Given the description of an element on the screen output the (x, y) to click on. 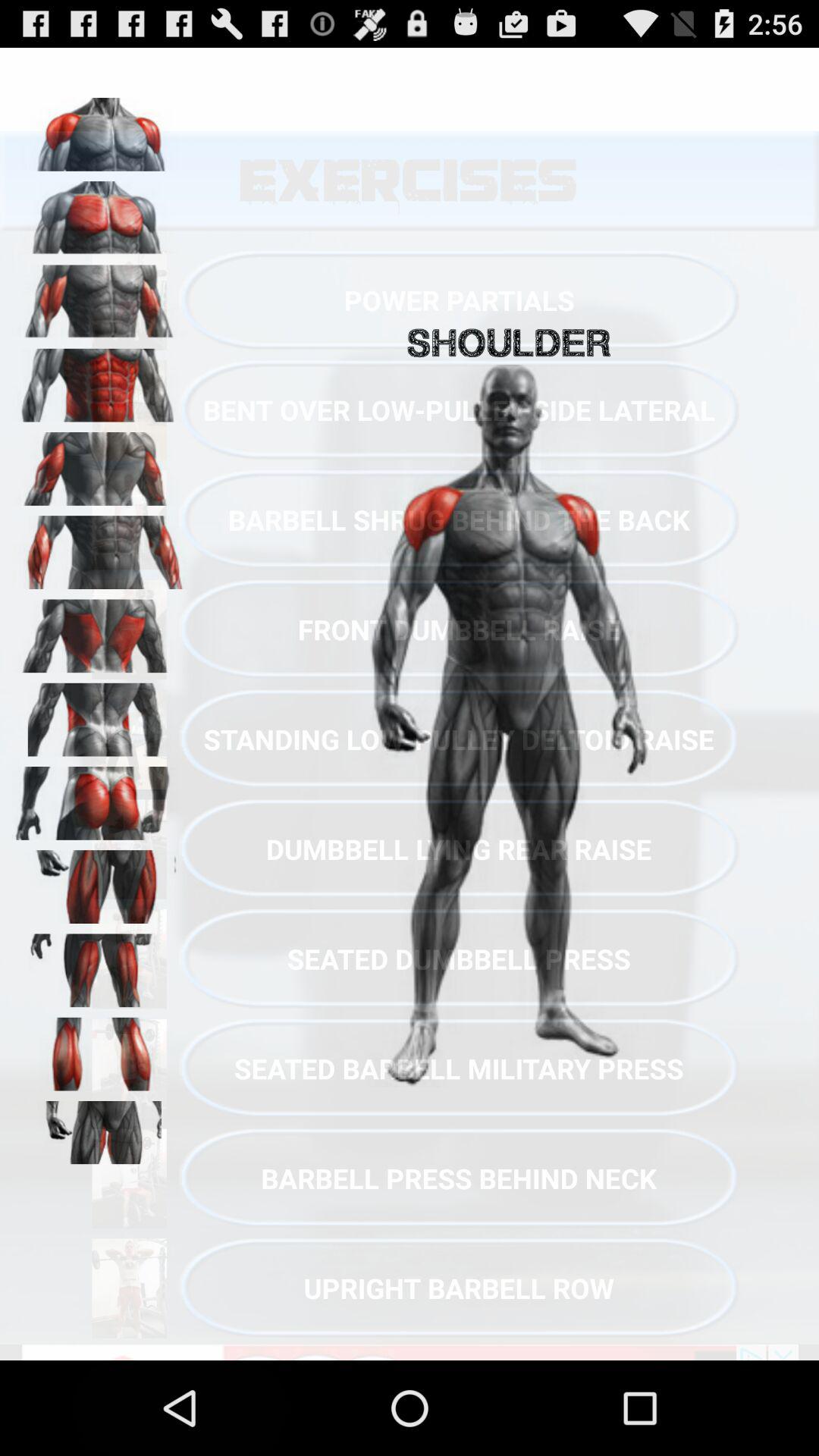
complete exercises for leg muscles (99, 965)
